Given the description of an element on the screen output the (x, y) to click on. 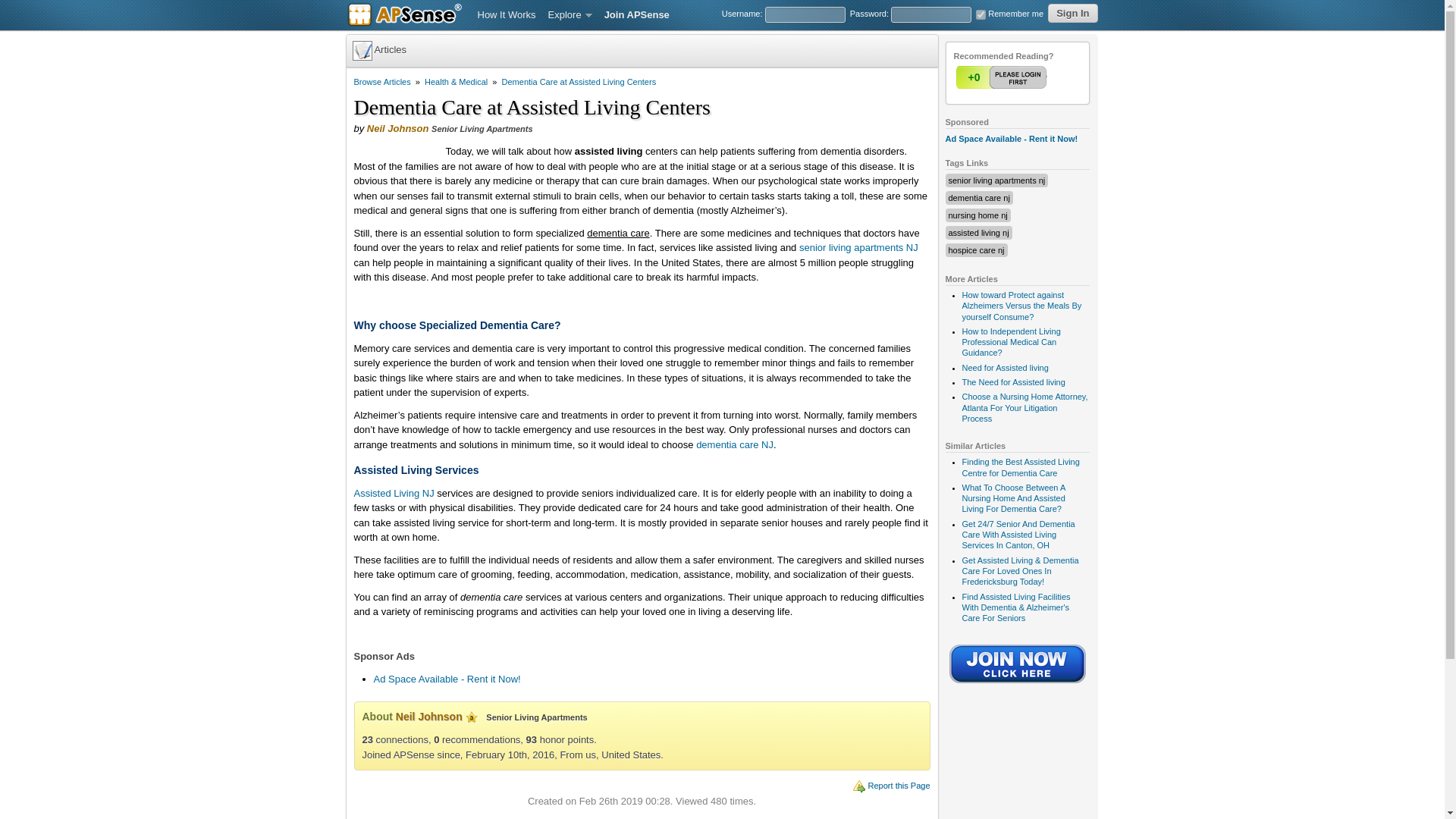
nursing home nj (977, 215)
hospice care nj (975, 249)
How to Independent Living Professional Medical Can Guidance? (1009, 341)
Ad Space Available - Rent it Now! (445, 678)
Vote Up (1002, 77)
senior living apartments nj (996, 180)
Report this Page (898, 785)
Neil Johnson (397, 128)
Sign In (1072, 13)
assisted living nj (978, 232)
1 (1002, 77)
Assisted Living NJ (393, 492)
Innovator (471, 717)
Vote Down (1031, 77)
